Given the description of an element on the screen output the (x, y) to click on. 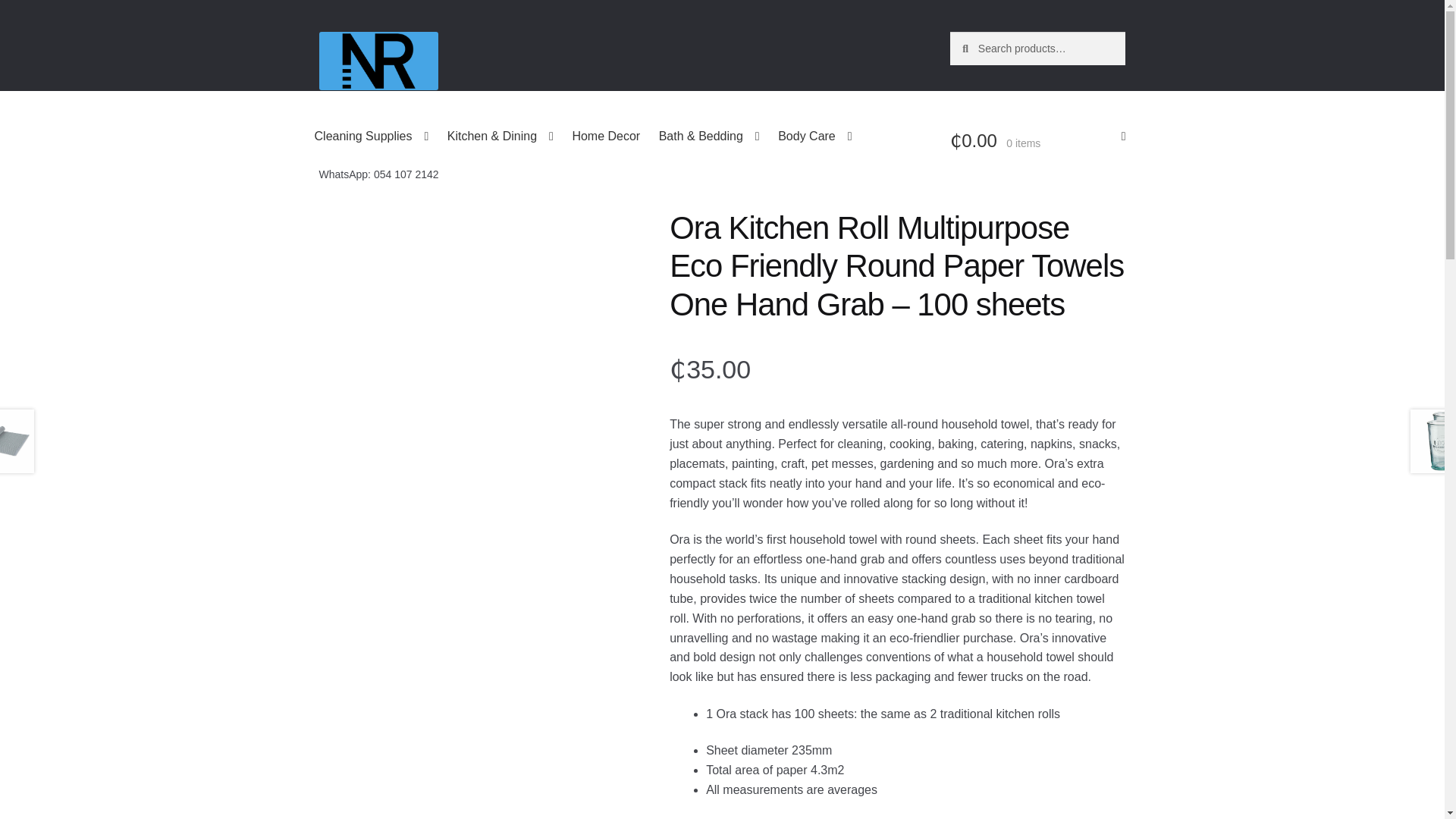
View your shopping cart (1037, 141)
Body Care (814, 136)
Home Decor (605, 136)
Cleaning Supplies (371, 136)
